Given the description of an element on the screen output the (x, y) to click on. 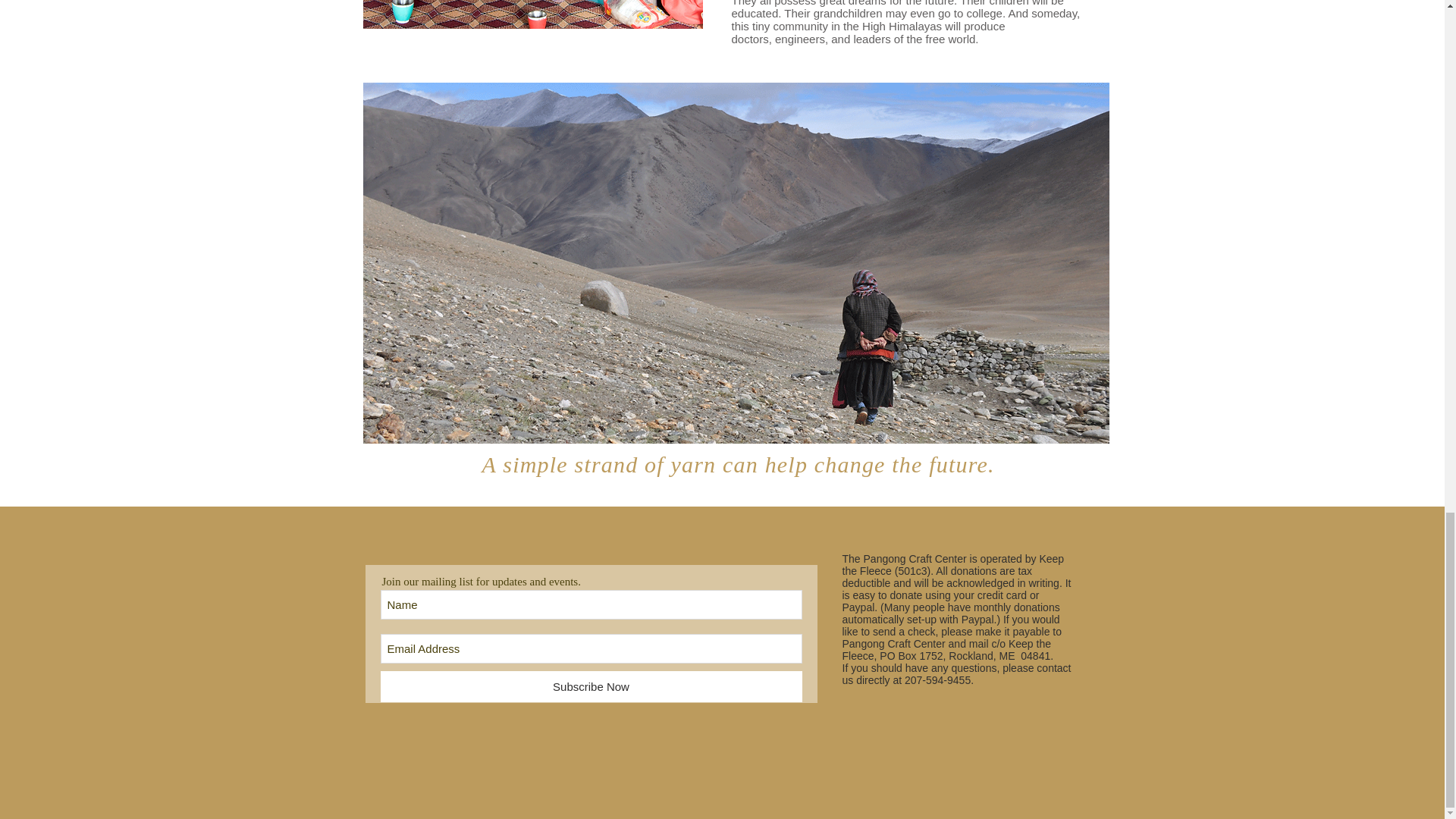
Subscribe Now (591, 685)
nursing-spinner.png (531, 14)
